Given the description of an element on the screen output the (x, y) to click on. 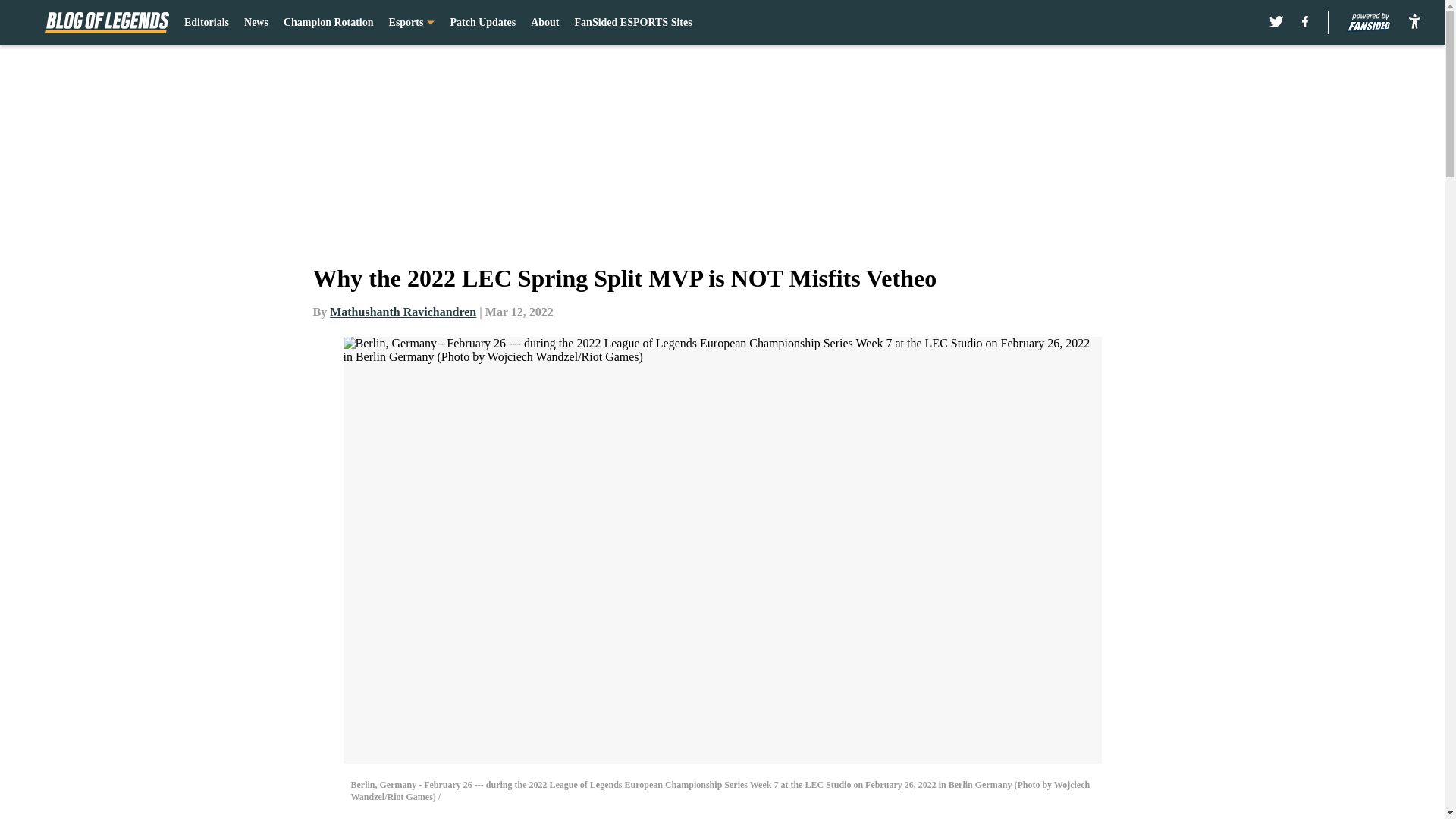
Patch Updates (482, 22)
Mathushanth Ravichandren (403, 311)
About (545, 22)
FanSided ESPORTS Sites (634, 22)
News (255, 22)
Editorials (206, 22)
Champion Rotation (328, 22)
